Given the description of an element on the screen output the (x, y) to click on. 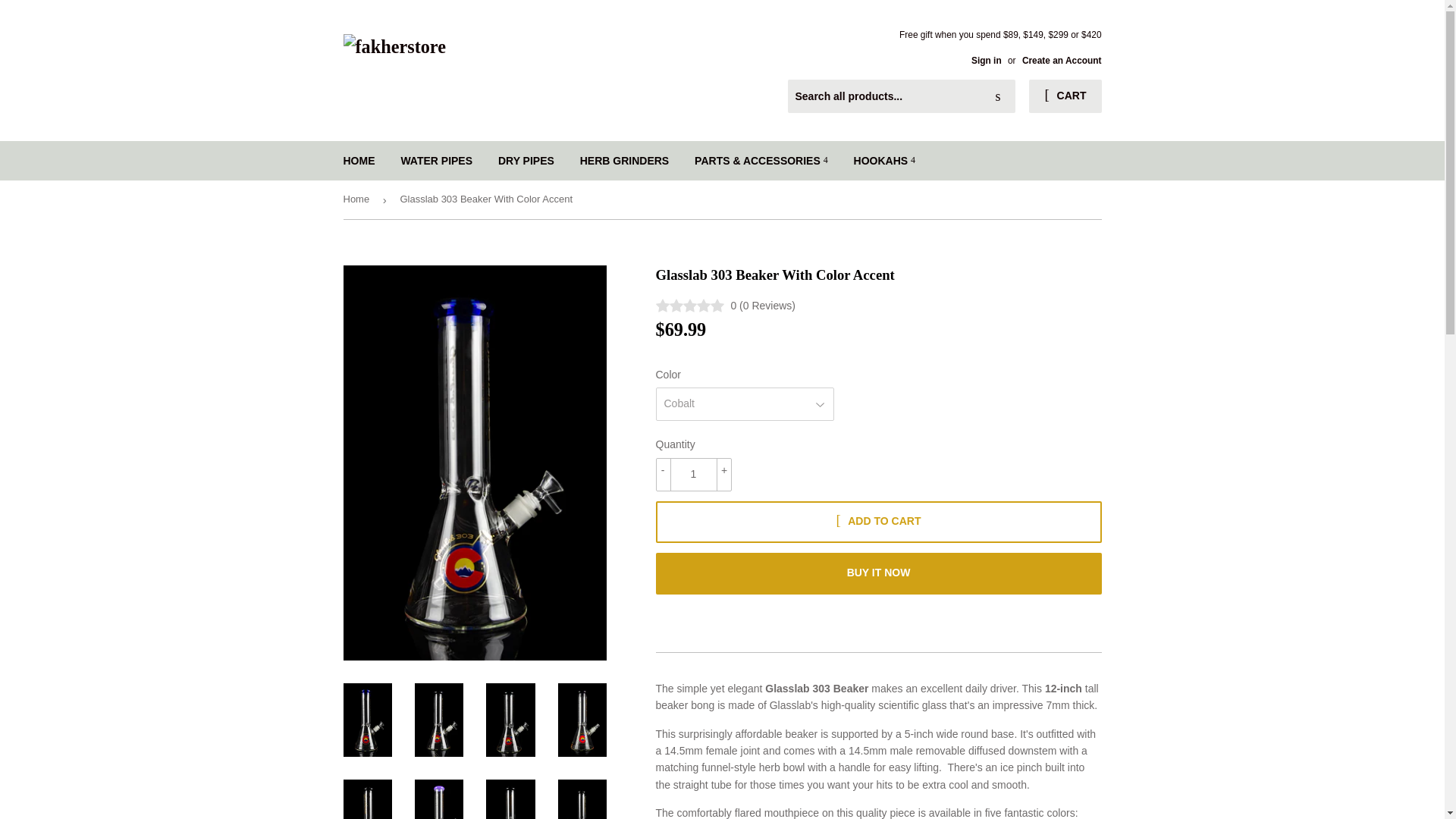
HOME (359, 160)
Back to the frontpage (358, 199)
1 (692, 474)
HERB GRINDERS (624, 160)
DRY PIPES (526, 160)
CART (1064, 96)
WATER PIPES (435, 160)
Search (997, 97)
HOOKAHS (884, 160)
Create an Account (1062, 60)
Sign in (986, 60)
